Given the description of an element on the screen output the (x, y) to click on. 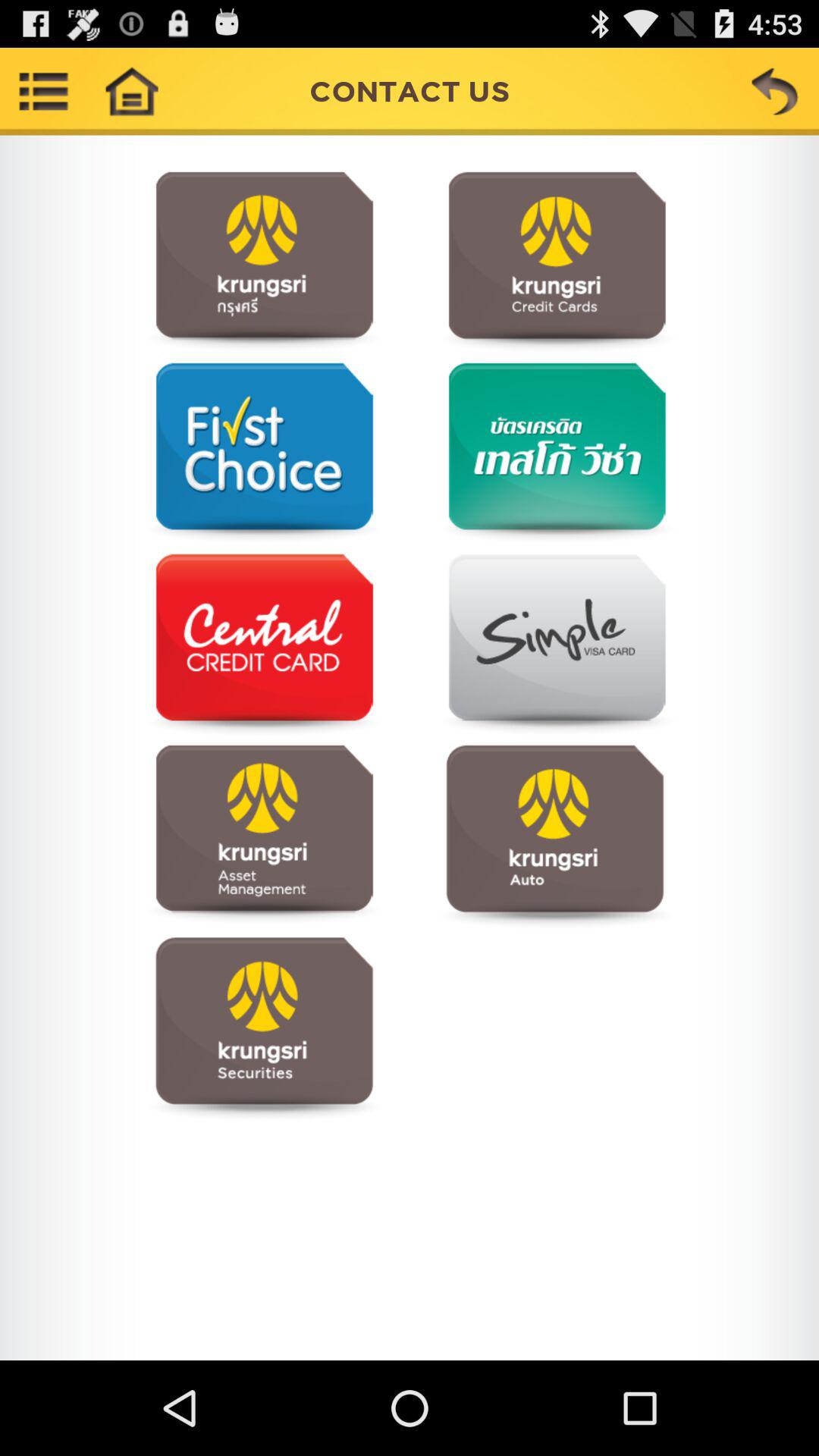
go to home option (131, 91)
